Given the description of an element on the screen output the (x, y) to click on. 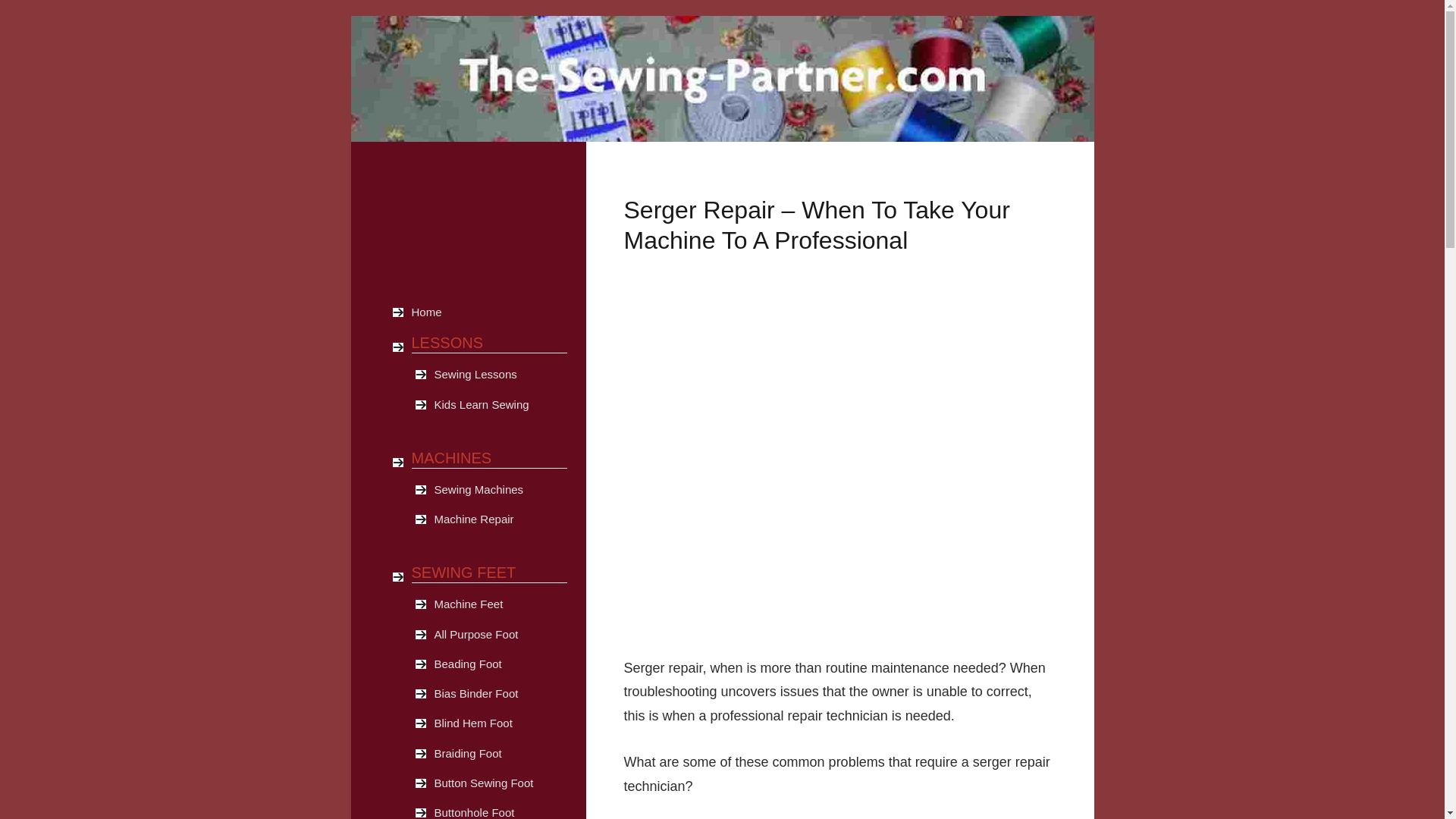
Advertisement (435, 226)
Machine Repair (499, 519)
Blind Hem Foot (499, 723)
Braiding Foot (499, 753)
Kids Learn Sewing (499, 404)
Machine Feet (499, 604)
Button Sewing Foot (499, 782)
Bias Binder Foot (499, 693)
Buttonhole Foot (499, 809)
Beading Foot (499, 664)
